Given the description of an element on the screen output the (x, y) to click on. 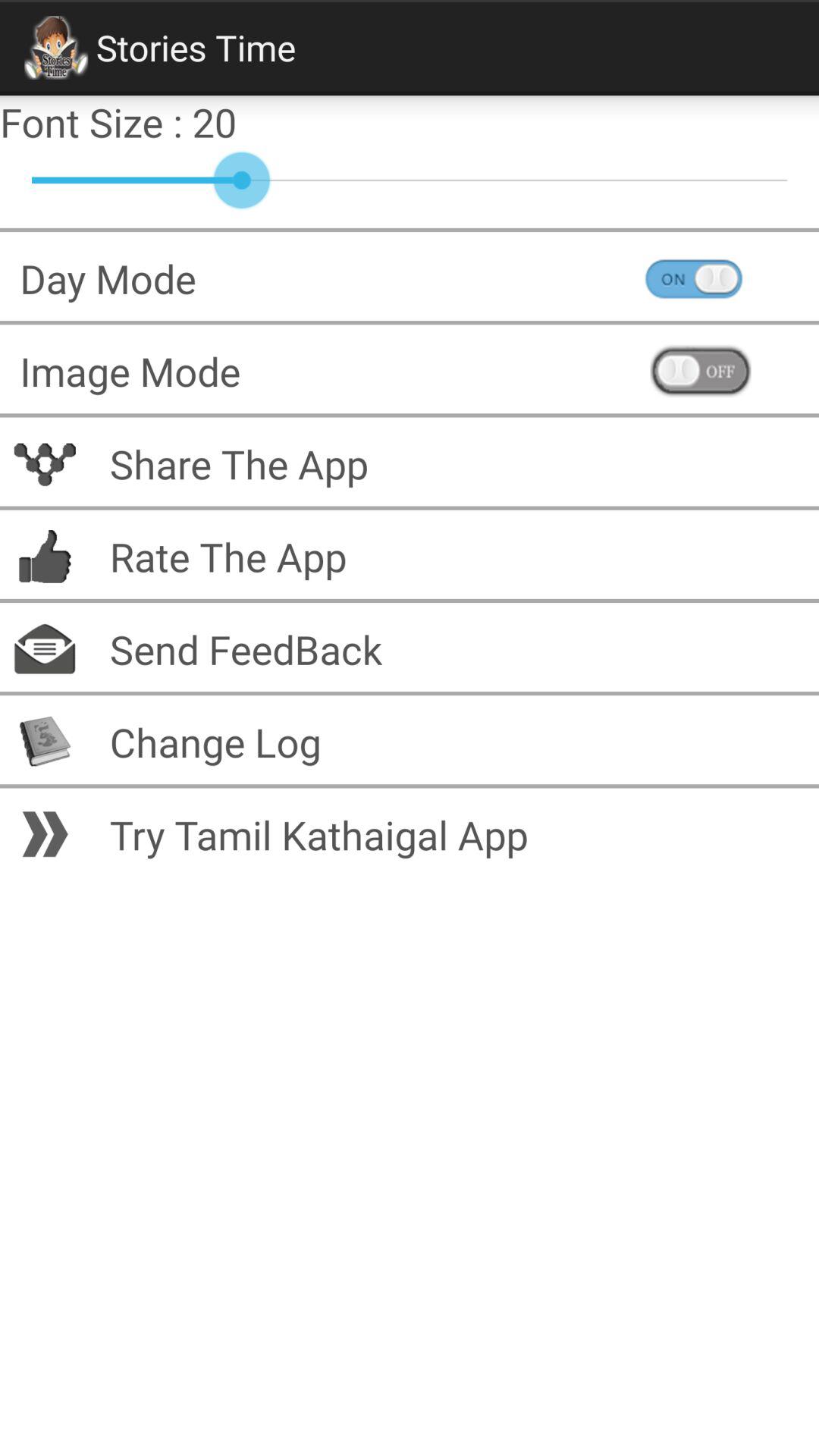
scroll until the change log (454, 741)
